Given the description of an element on the screen output the (x, y) to click on. 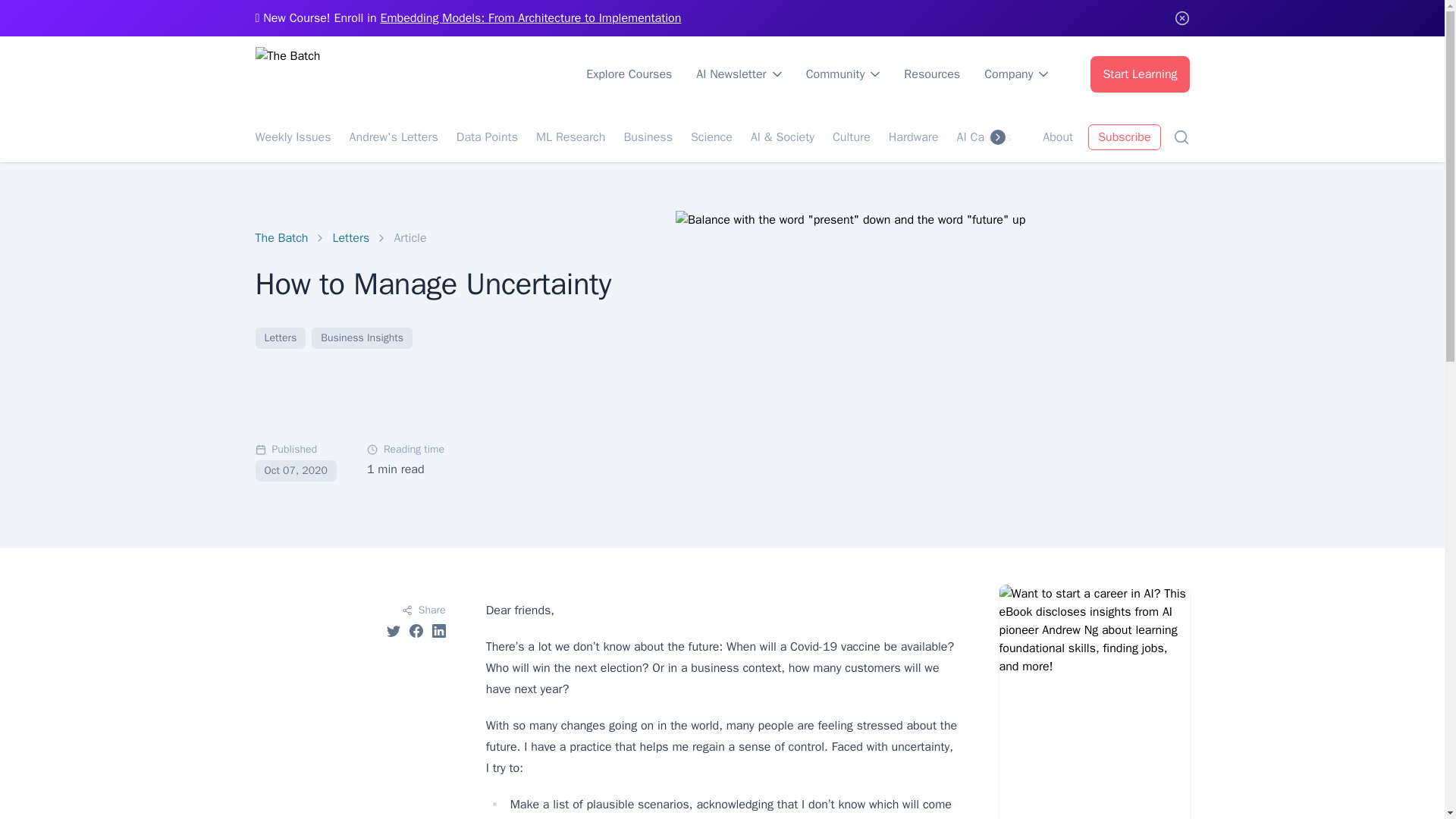
Start Learning (1139, 74)
Hardware (913, 137)
Resources (931, 74)
Letters (350, 238)
Data Points (487, 137)
Embedding Models: From Architecture to Implementation (530, 17)
Search (1180, 136)
Subscribe (1123, 136)
Business (647, 137)
Andrew's Letters (393, 137)
The Batch (280, 238)
Community (842, 74)
ML Research (570, 137)
Article (409, 238)
Weekly Issues (292, 137)
